Given the description of an element on the screen output the (x, y) to click on. 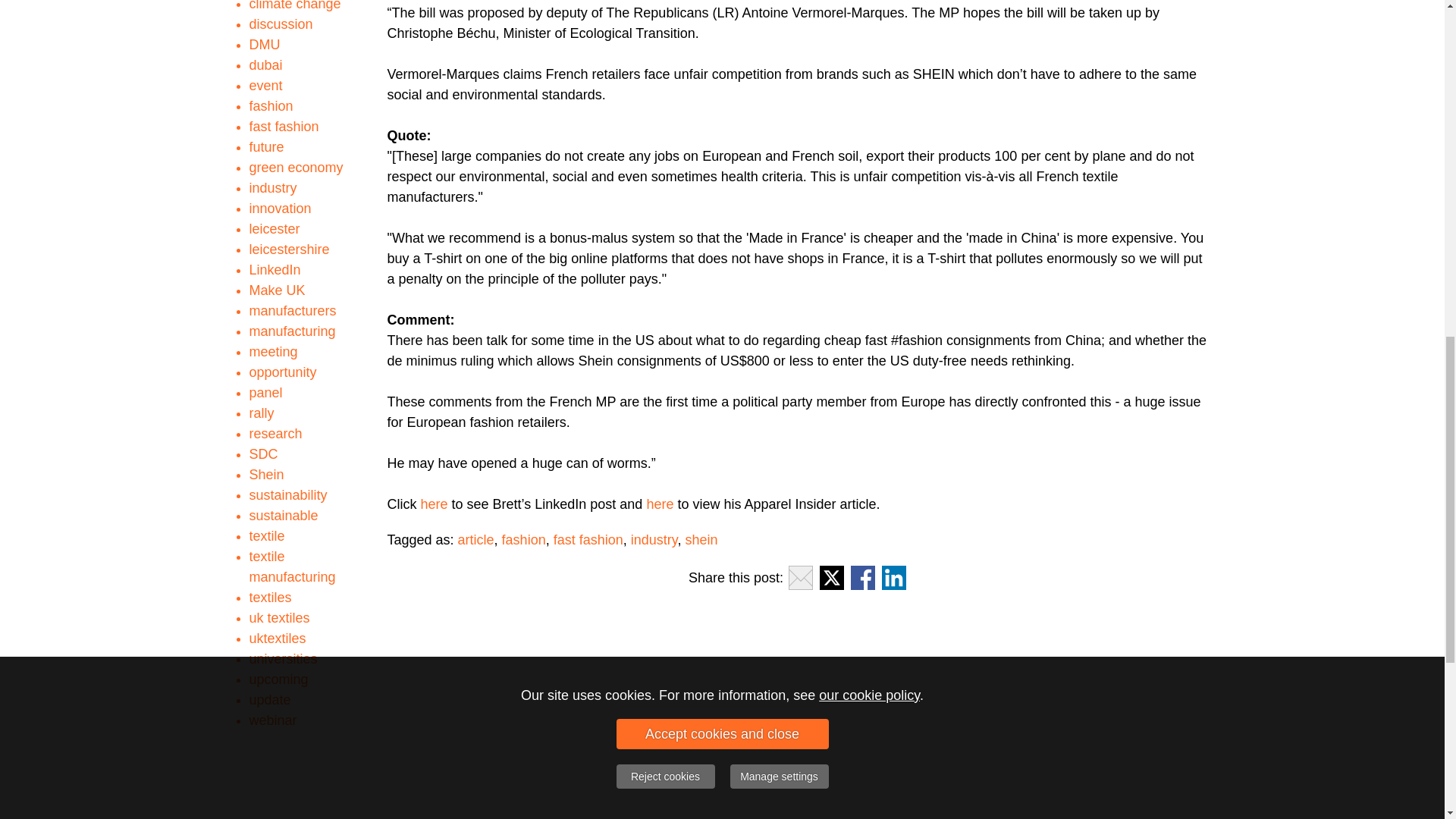
here (659, 503)
here (433, 503)
fashion (524, 539)
industry (654, 539)
fast fashion (588, 539)
article (476, 539)
